Given the description of an element on the screen output the (x, y) to click on. 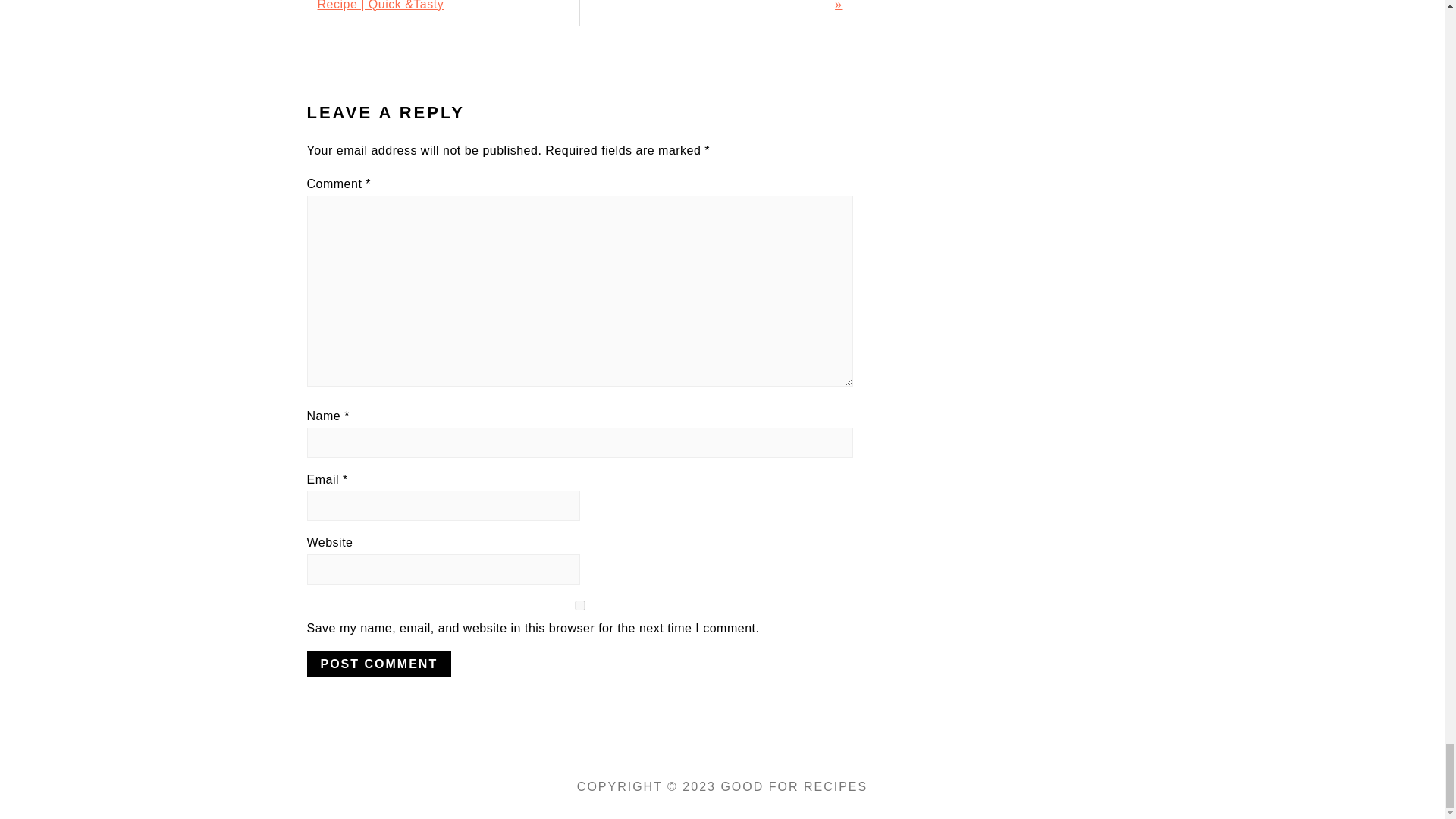
yes (578, 605)
Post Comment (378, 664)
Post Comment (378, 664)
